Given the description of an element on the screen output the (x, y) to click on. 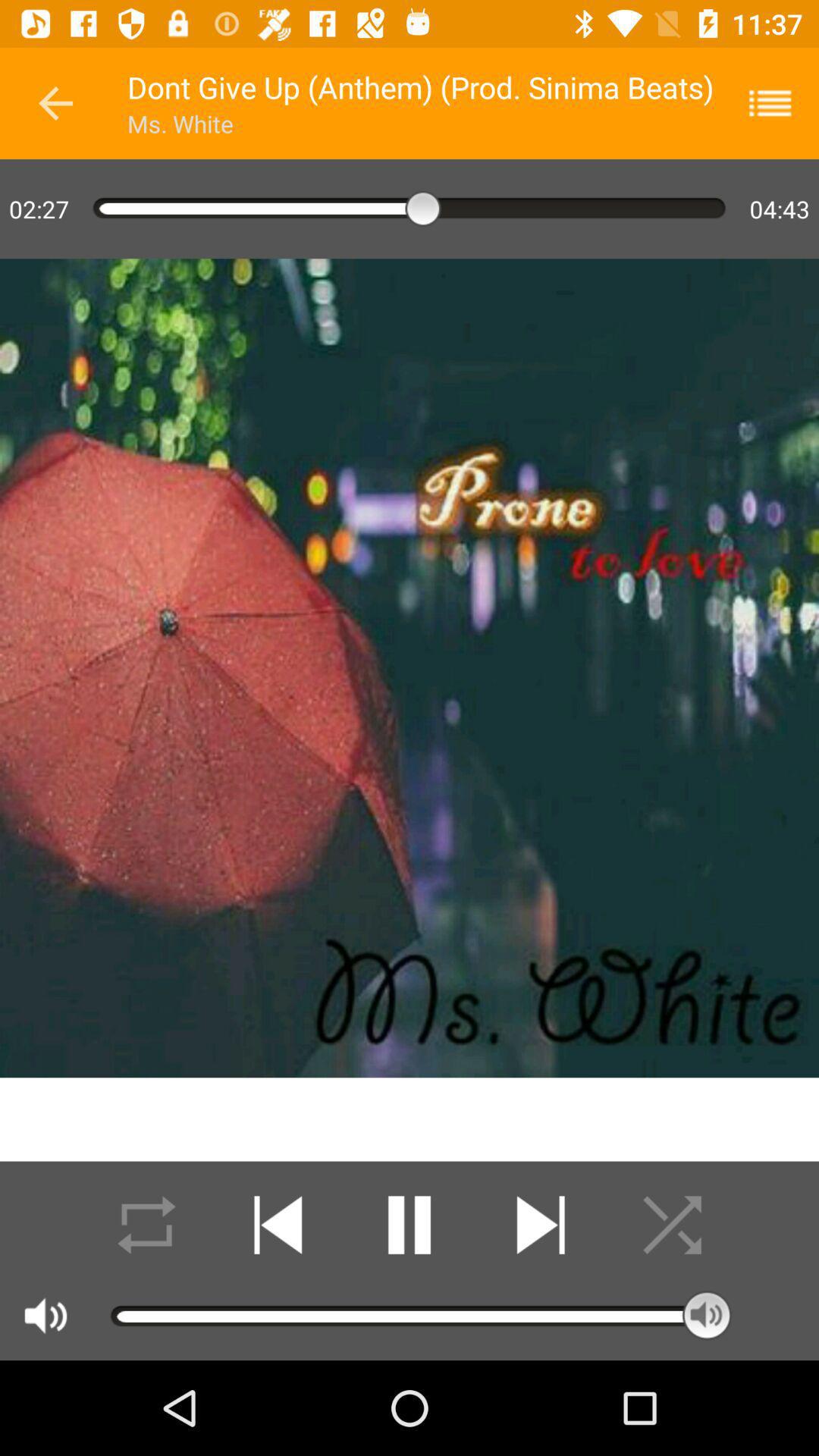
pause (409, 1224)
